Given the description of an element on the screen output the (x, y) to click on. 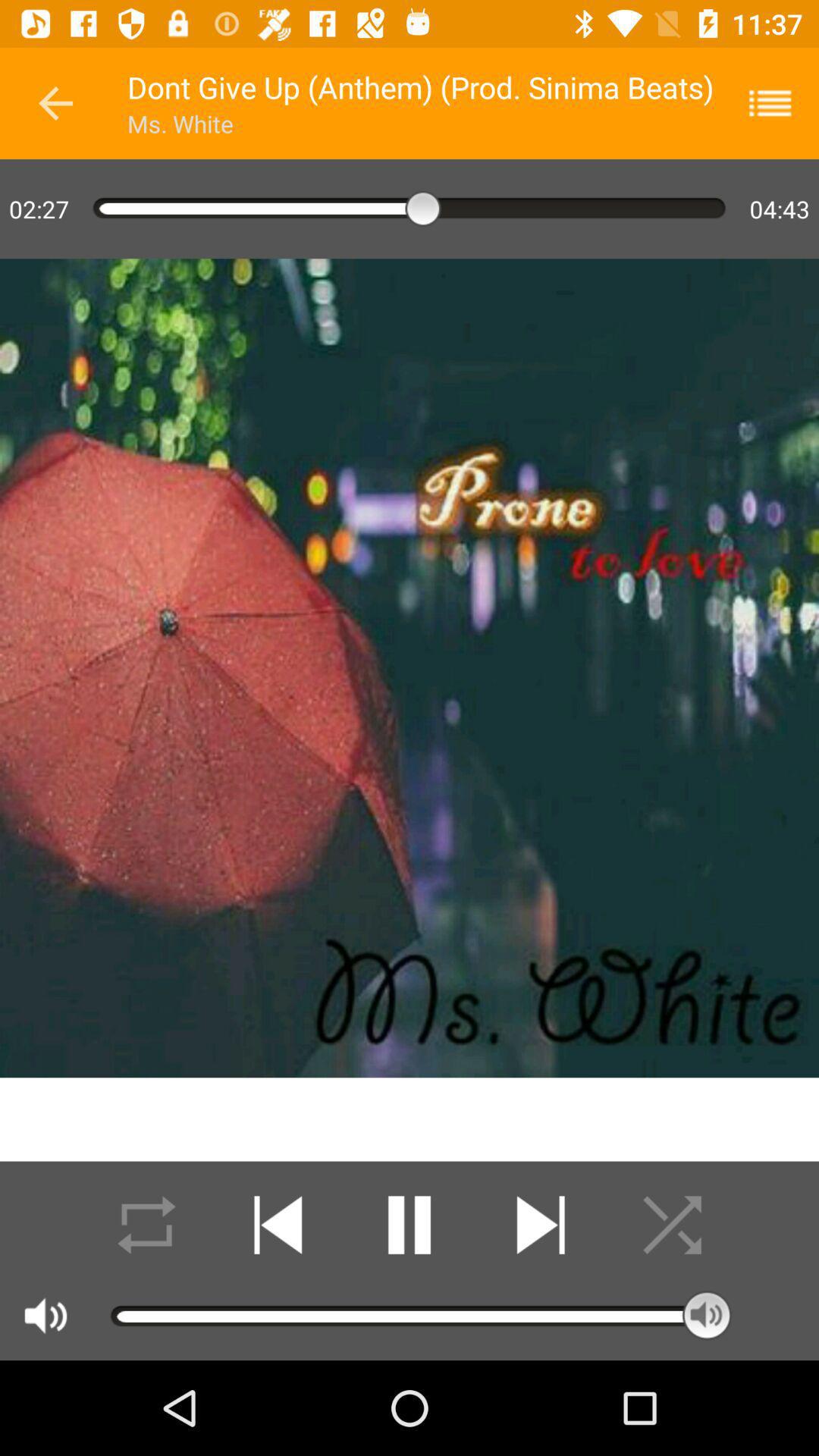
pause (409, 1224)
